Given the description of an element on the screen output the (x, y) to click on. 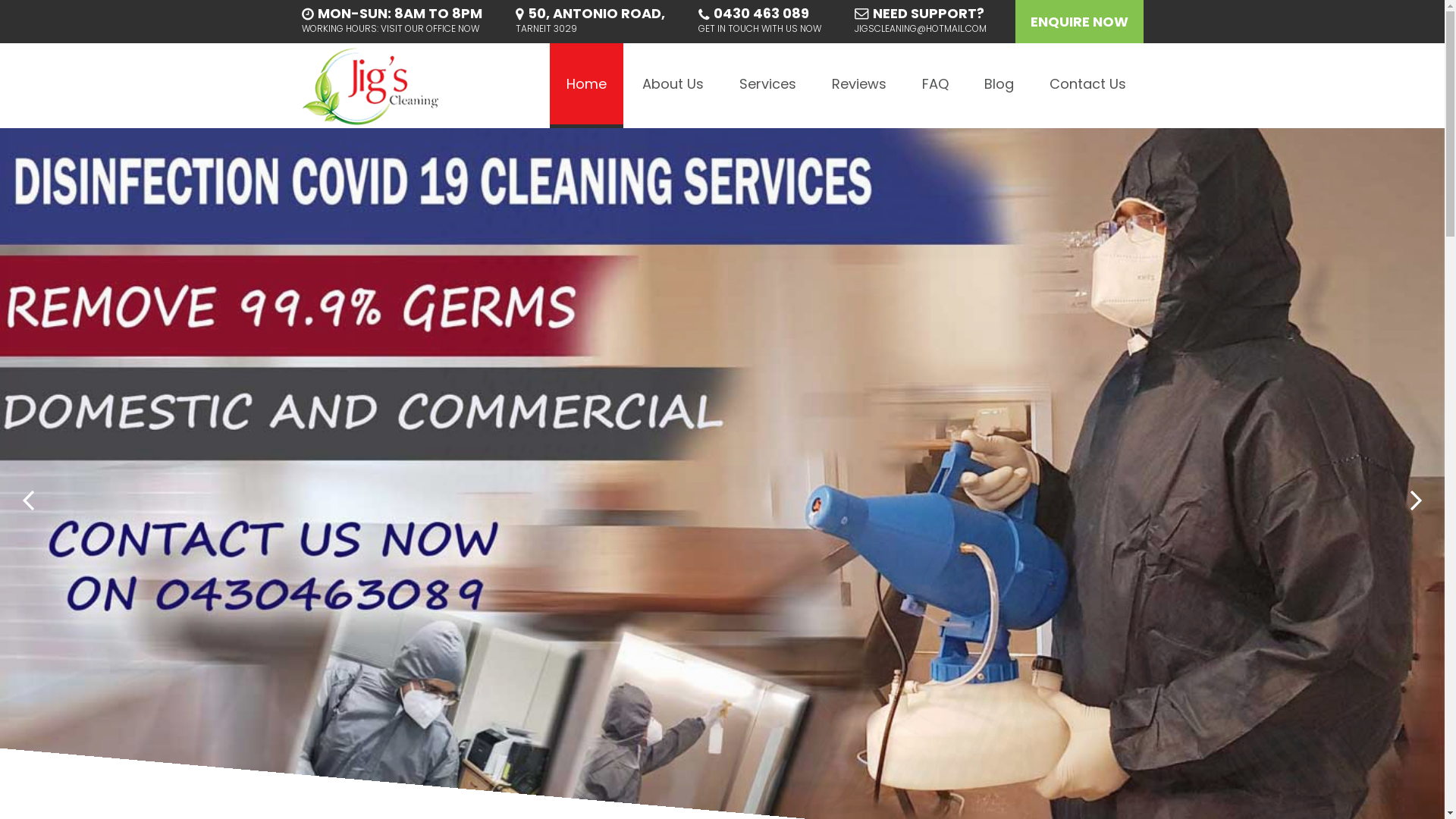
Home Element type: text (585, 85)
0430 463 089 Element type: text (760, 12)
0430 463 089 Element type: text (555, 555)
Blog Element type: text (998, 85)
FAQ Element type: text (935, 85)
JIGSCLEANING@HOTMAIL.COM Element type: text (919, 27)
Reviews Element type: text (858, 85)
Services Element type: text (766, 85)
About Us Element type: text (671, 85)
ENQUIRE NOW Element type: text (1078, 21)
Skip to content Element type: text (558, 42)
Contact Us Element type: text (1087, 85)
